Given the description of an element on the screen output the (x, y) to click on. 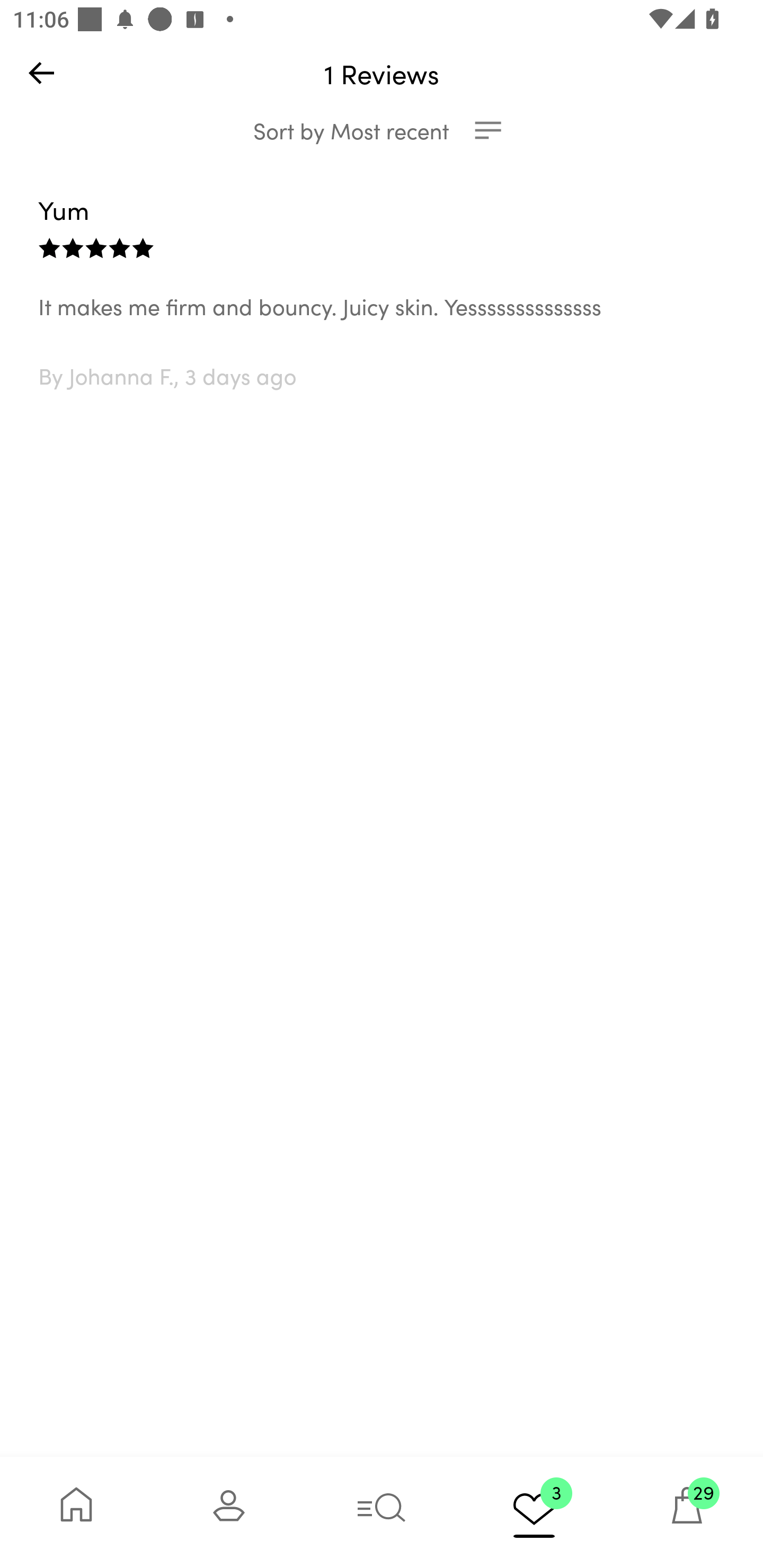
Sort by Most recent (381, 130)
3 (533, 1512)
29 (686, 1512)
